Given the description of an element on the screen output the (x, y) to click on. 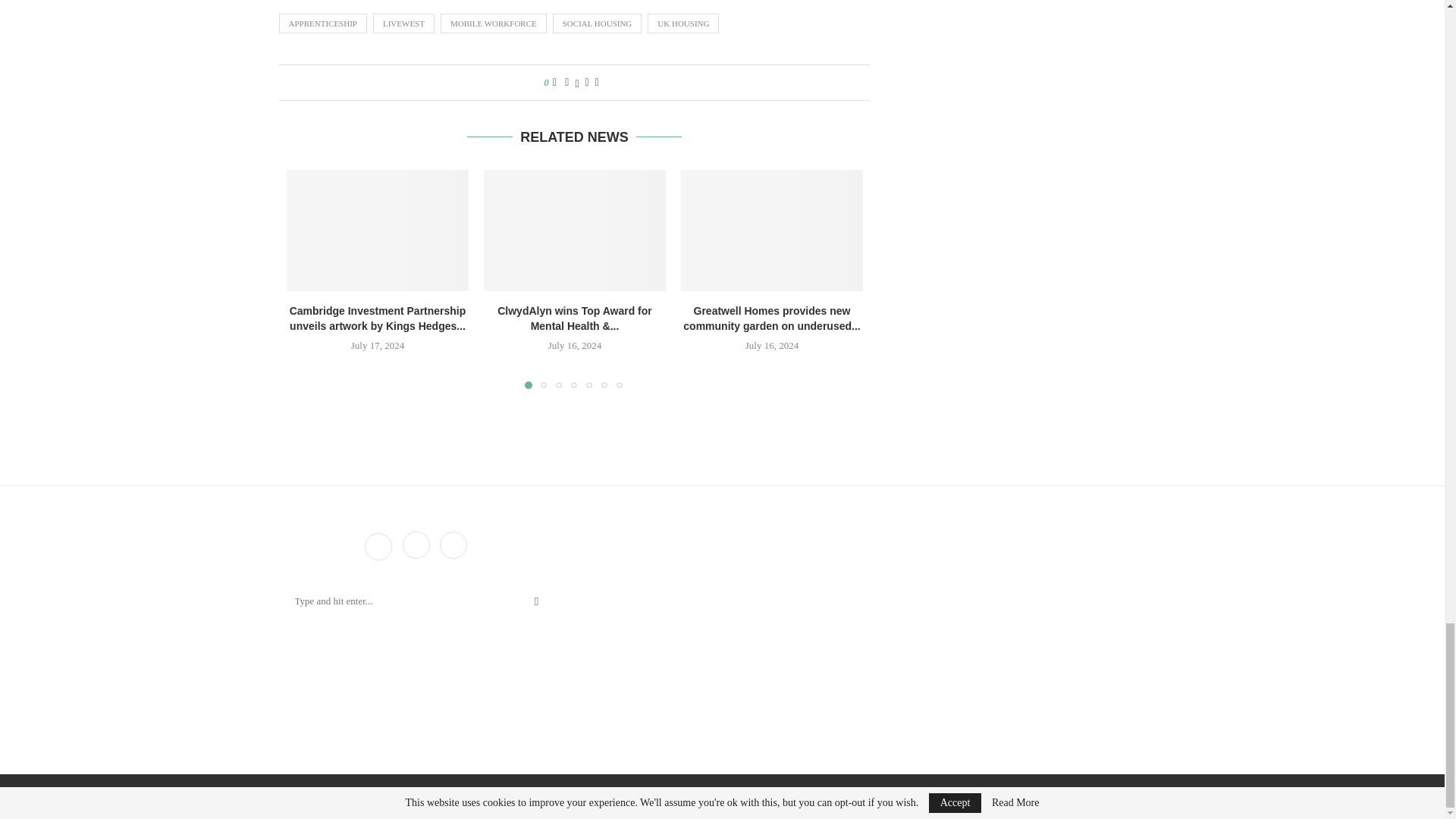
Like (554, 82)
